Given the description of an element on the screen output the (x, y) to click on. 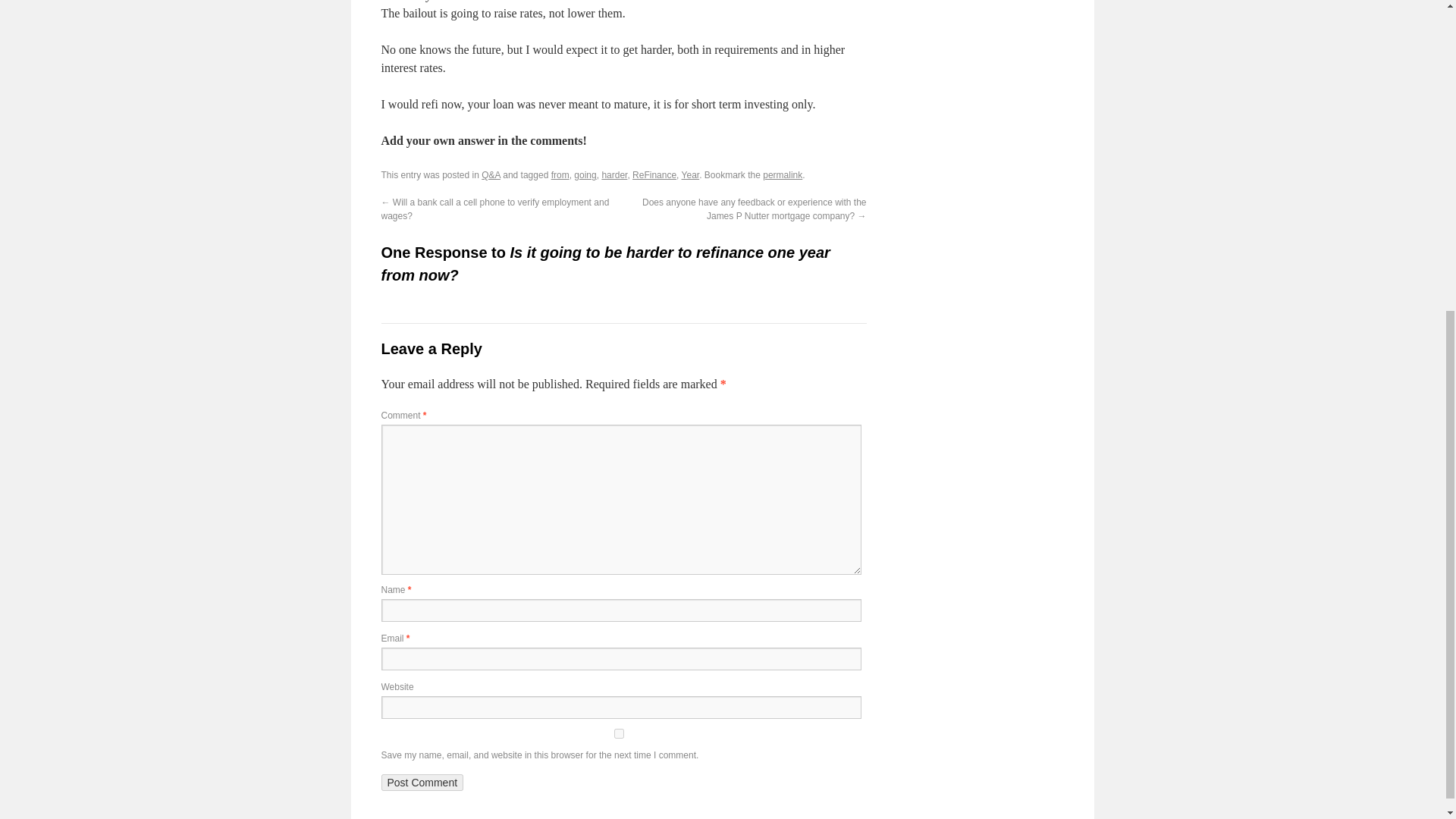
going (584, 174)
Year (690, 174)
permalink (782, 174)
from (560, 174)
ReFinance (654, 174)
harder (614, 174)
yes (618, 733)
Post Comment (421, 782)
Post Comment (421, 782)
